Given the description of an element on the screen output the (x, y) to click on. 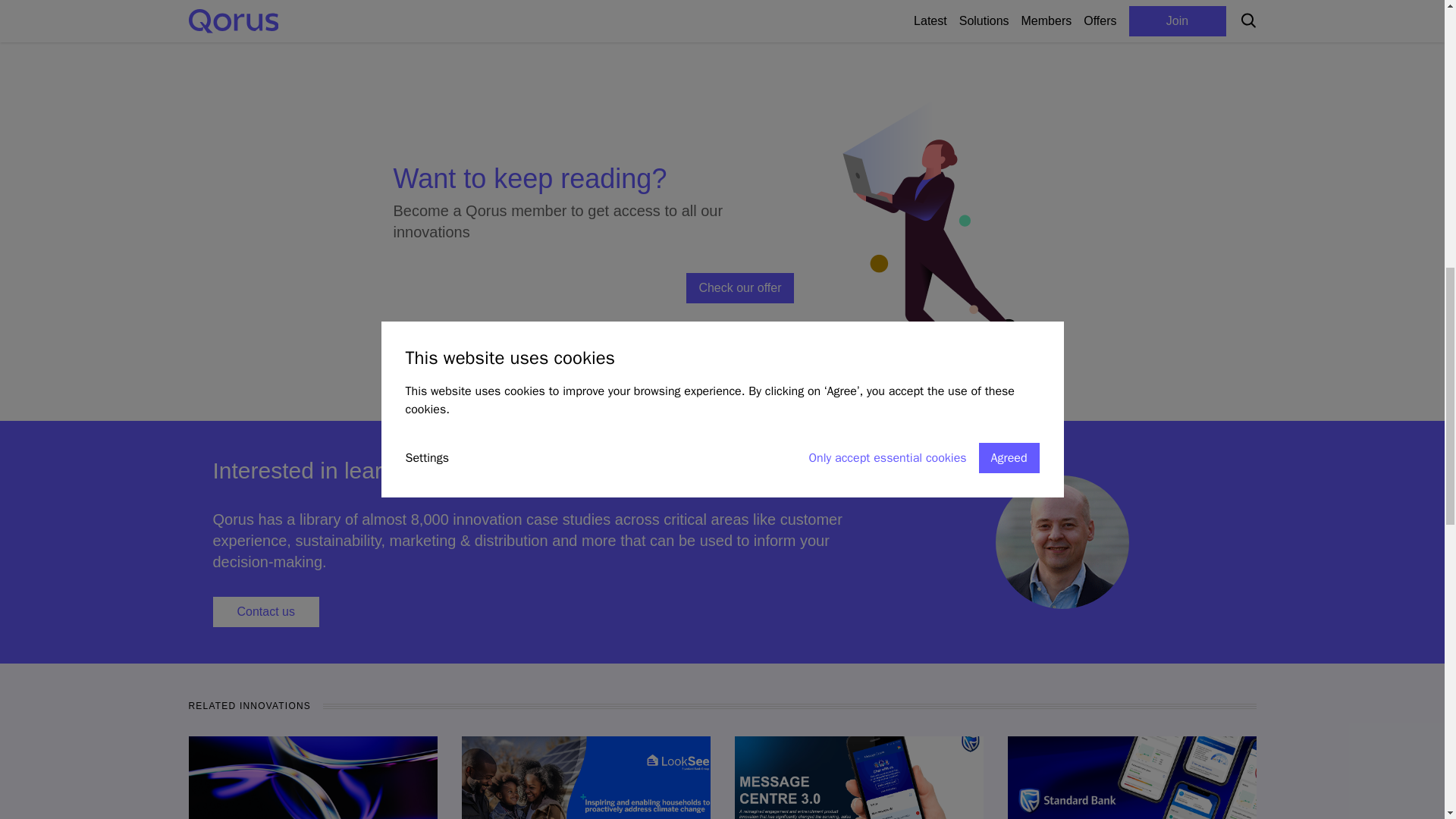
Contact us (265, 612)
Check our offer (739, 287)
